Given the description of an element on the screen output the (x, y) to click on. 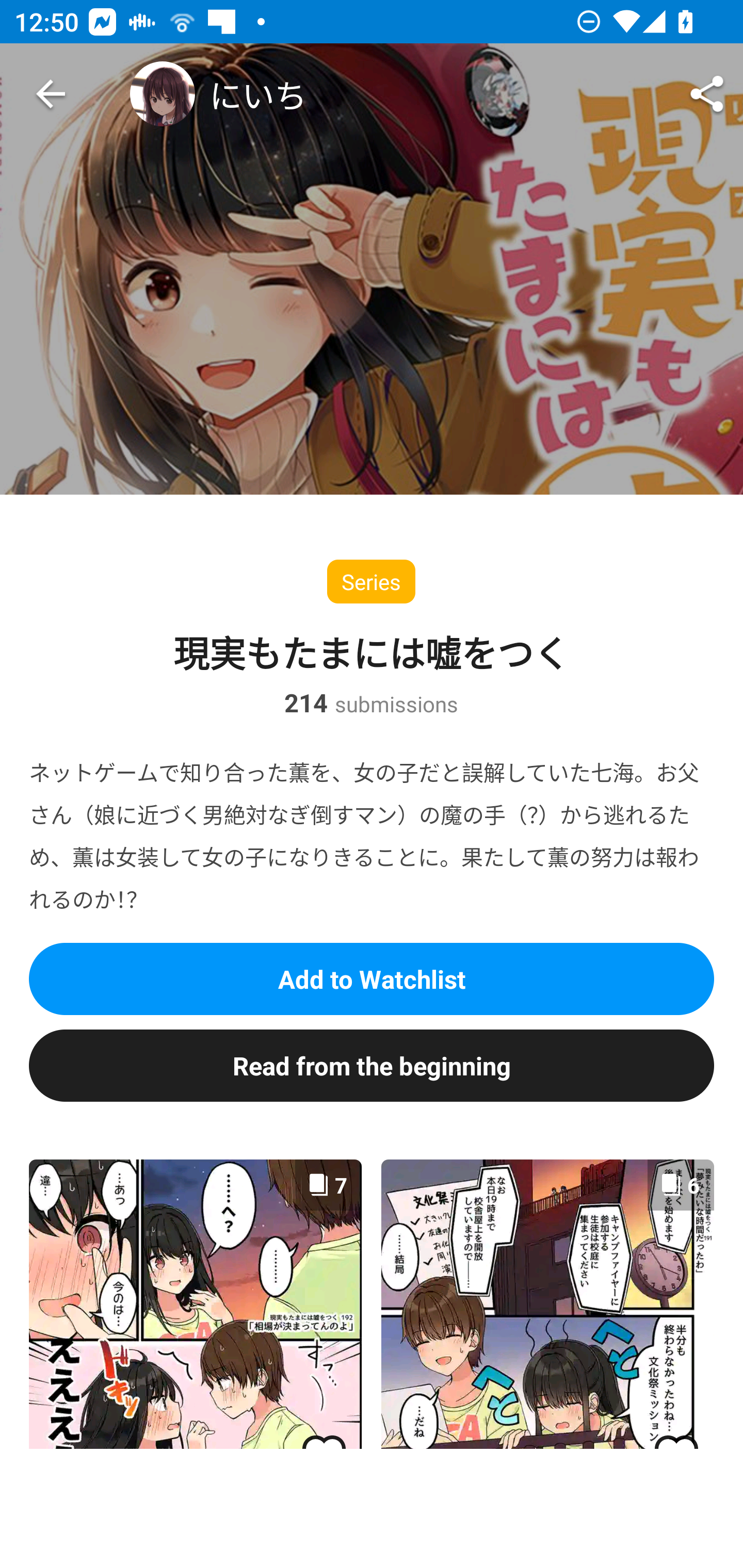
Navigate up (50, 93)
Share (706, 93)
にいち (218, 94)
Add to Watchlist (371, 978)
Read from the beginning (371, 1066)
7 (194, 1303)
6 (547, 1303)
